Given the description of an element on the screen output the (x, y) to click on. 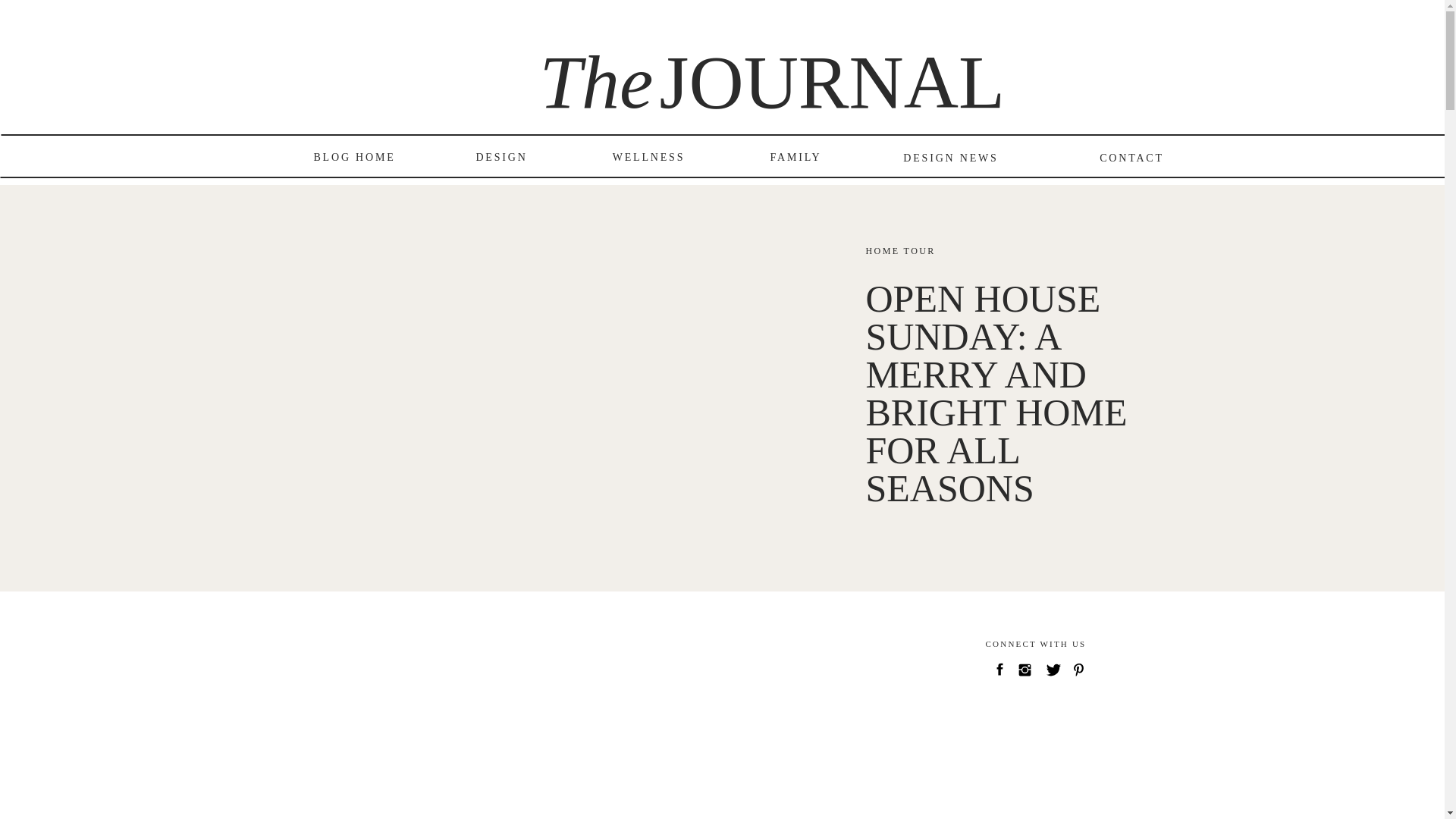
BLOG HOME (353, 158)
DESIGN (500, 158)
FAMILY (795, 158)
The (585, 68)
HOME TOUR (901, 250)
DESIGN NEWS (950, 158)
CONTACT (1131, 158)
JOURNAL (705, 68)
WELLNESS (647, 158)
